Given the description of an element on the screen output the (x, y) to click on. 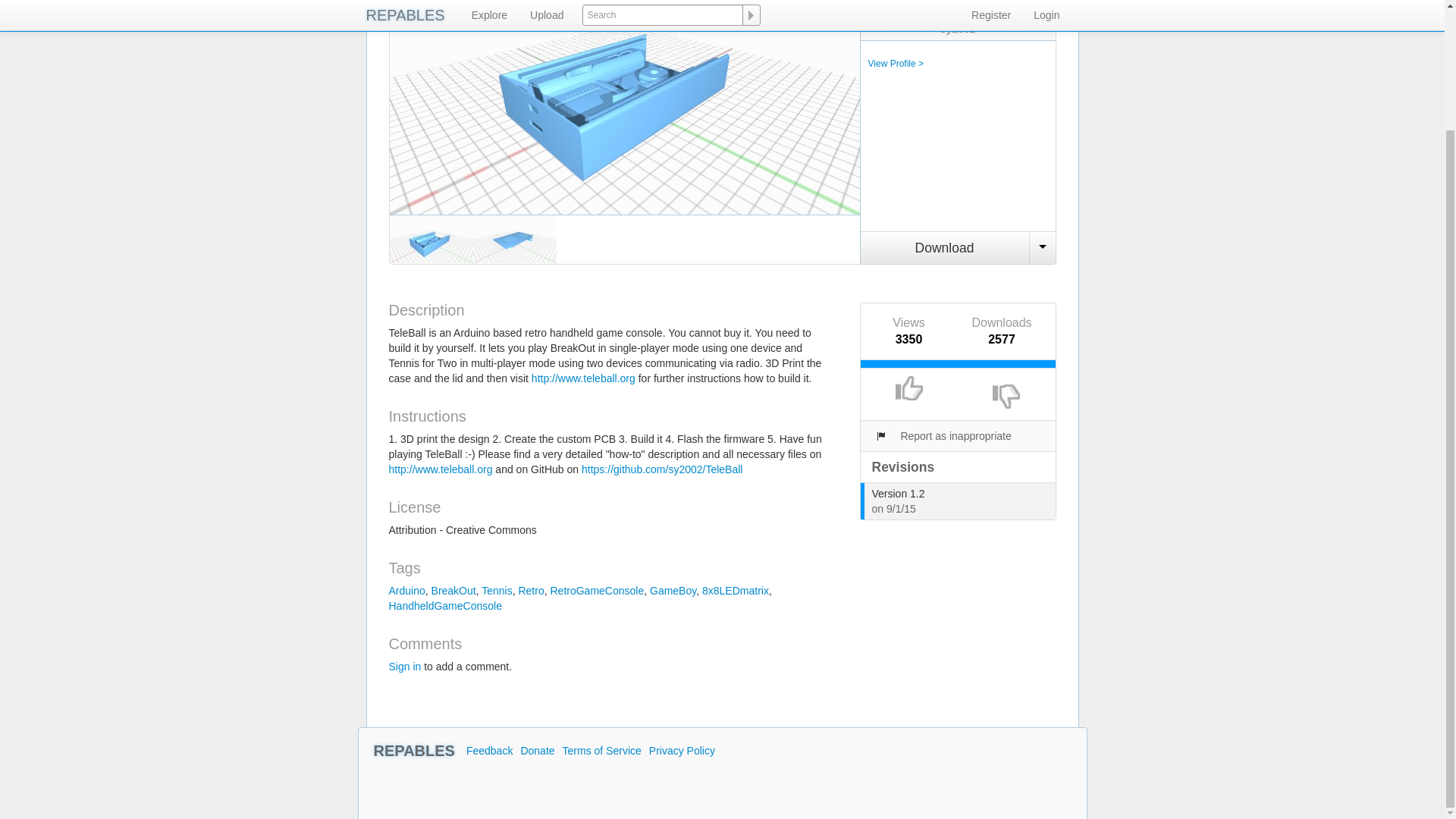
Arduino (406, 590)
BreakOut (453, 590)
RetroGameConsole (596, 590)
Retro (530, 590)
Feedback (488, 750)
Download (944, 246)
Report as inappropriate (942, 435)
Donate (536, 748)
Sign in (404, 666)
Tennis (496, 590)
GameBoy (672, 590)
Terms of Service (602, 750)
REPABLES (413, 750)
8x8LEDmatrix (734, 590)
Donate (536, 748)
